Given the description of an element on the screen output the (x, y) to click on. 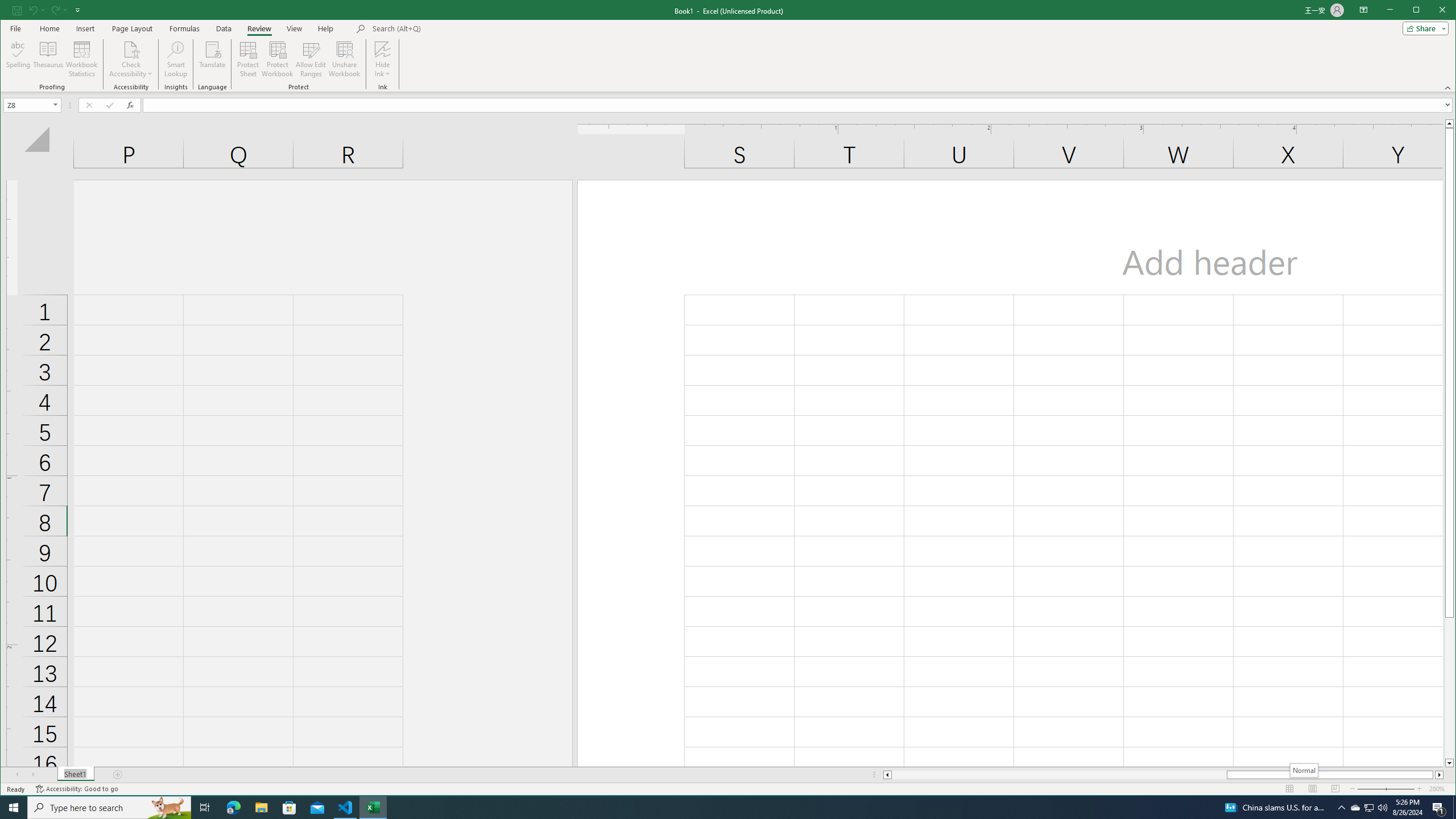
Smart Lookup (176, 59)
Protect Sheet... (247, 59)
Microsoft Store (289, 807)
Sheet Tab (75, 774)
Notification Chevron (1341, 807)
Visual Studio Code - 1 running window (345, 807)
